Given the description of an element on the screen output the (x, y) to click on. 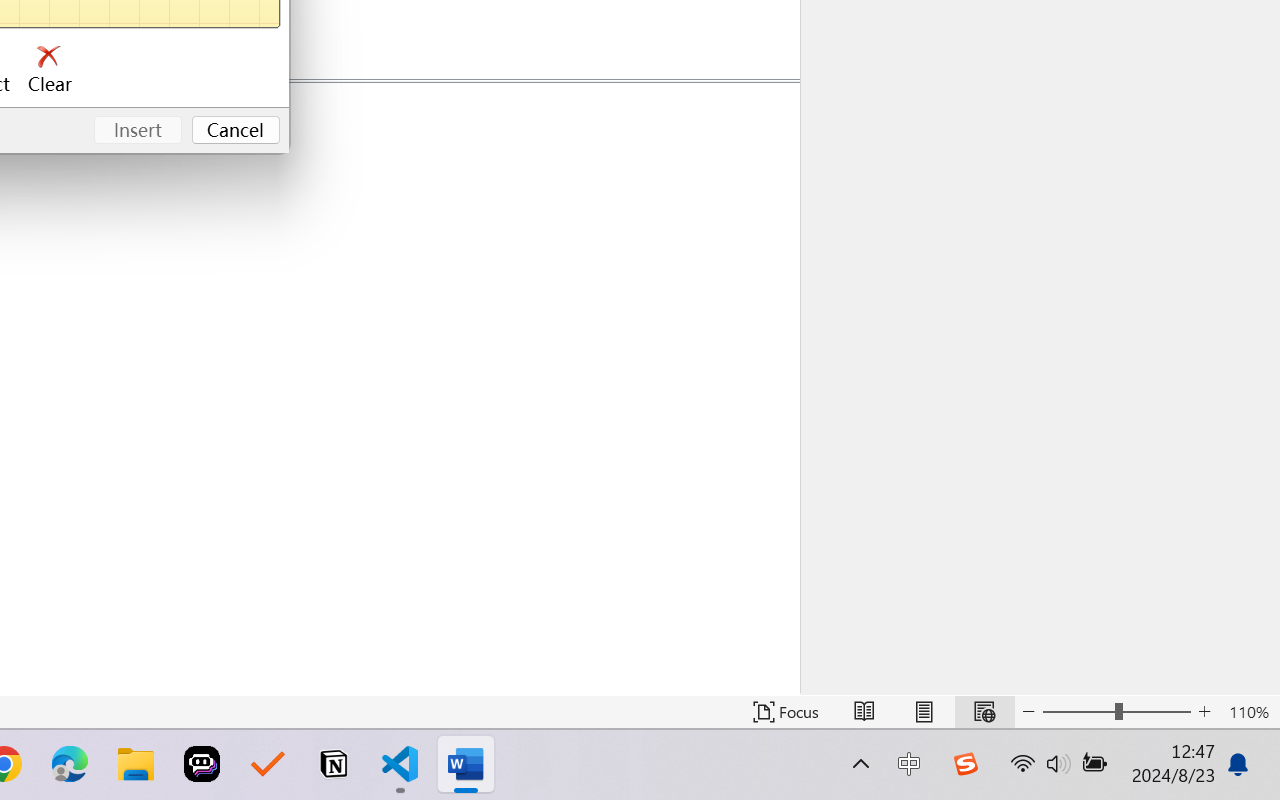
Clear (49, 69)
Cancel (235, 129)
Microsoft Edge (69, 764)
